Given the description of an element on the screen output the (x, y) to click on. 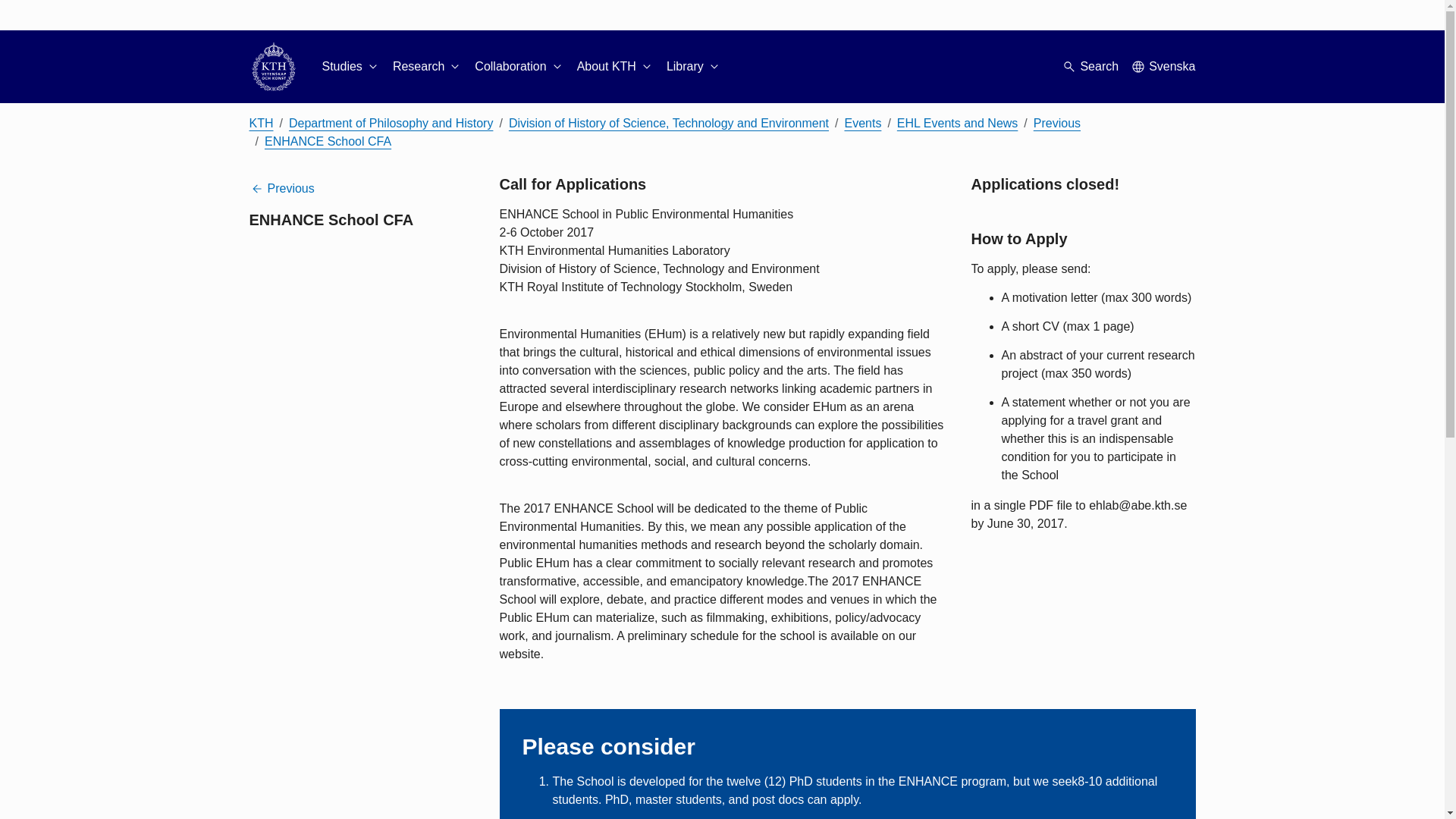
Research (428, 66)
Studies (350, 66)
About KTH (614, 66)
Collaboration (519, 66)
Library (694, 66)
